Given the description of an element on the screen output the (x, y) to click on. 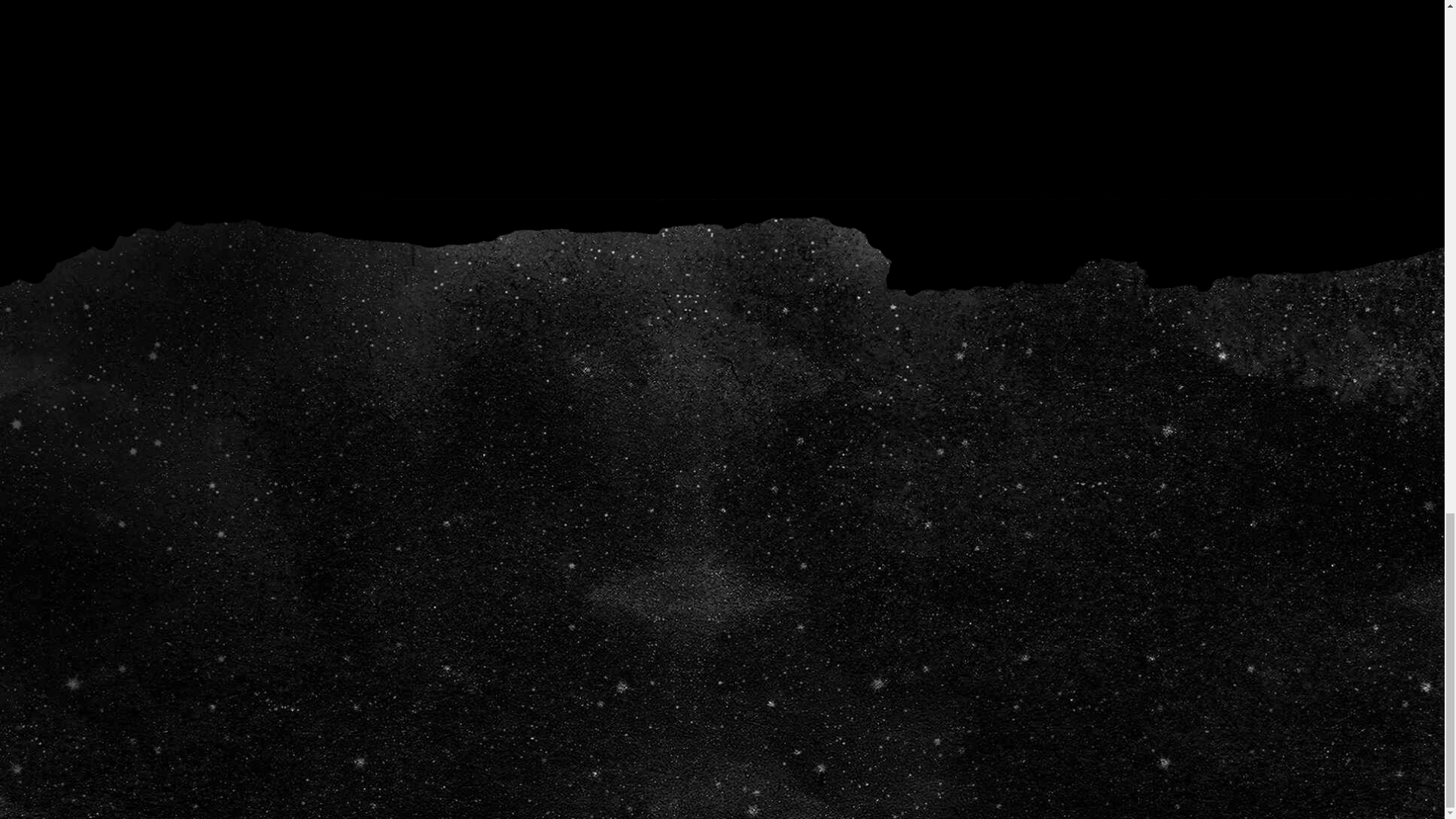
Send (1097, 630)
